Given the description of an element on the screen output the (x, y) to click on. 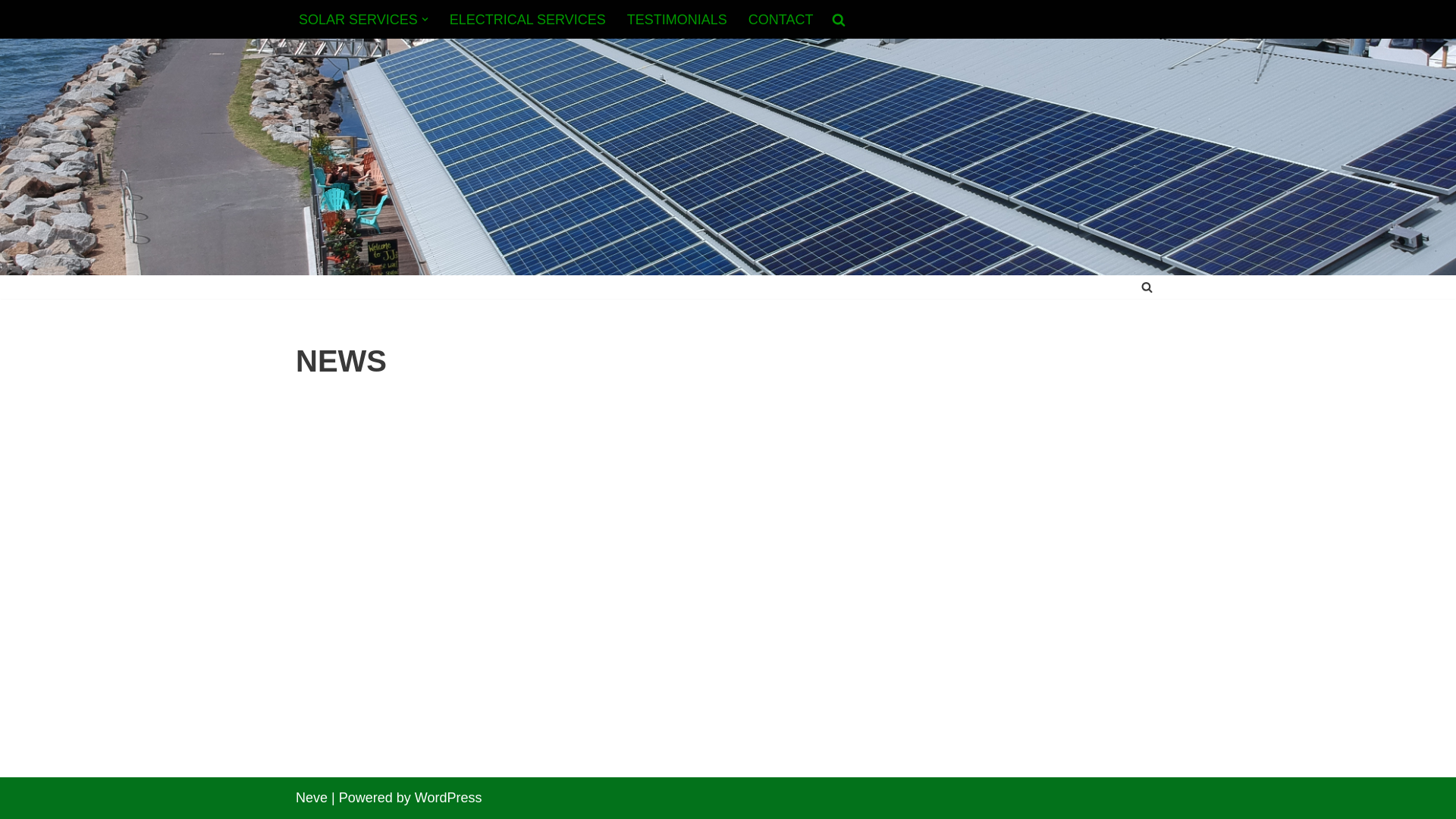
TESTIMONIALS Element type: text (677, 19)
Skip to content Element type: text (11, 31)
WordPress Element type: text (448, 797)
ELECTRICAL SERVICES Element type: text (527, 19)
CONTACT Element type: text (780, 19)
Neve Element type: text (311, 797)
SOLAR SERVICES Element type: text (357, 19)
